Given the description of an element on the screen output the (x, y) to click on. 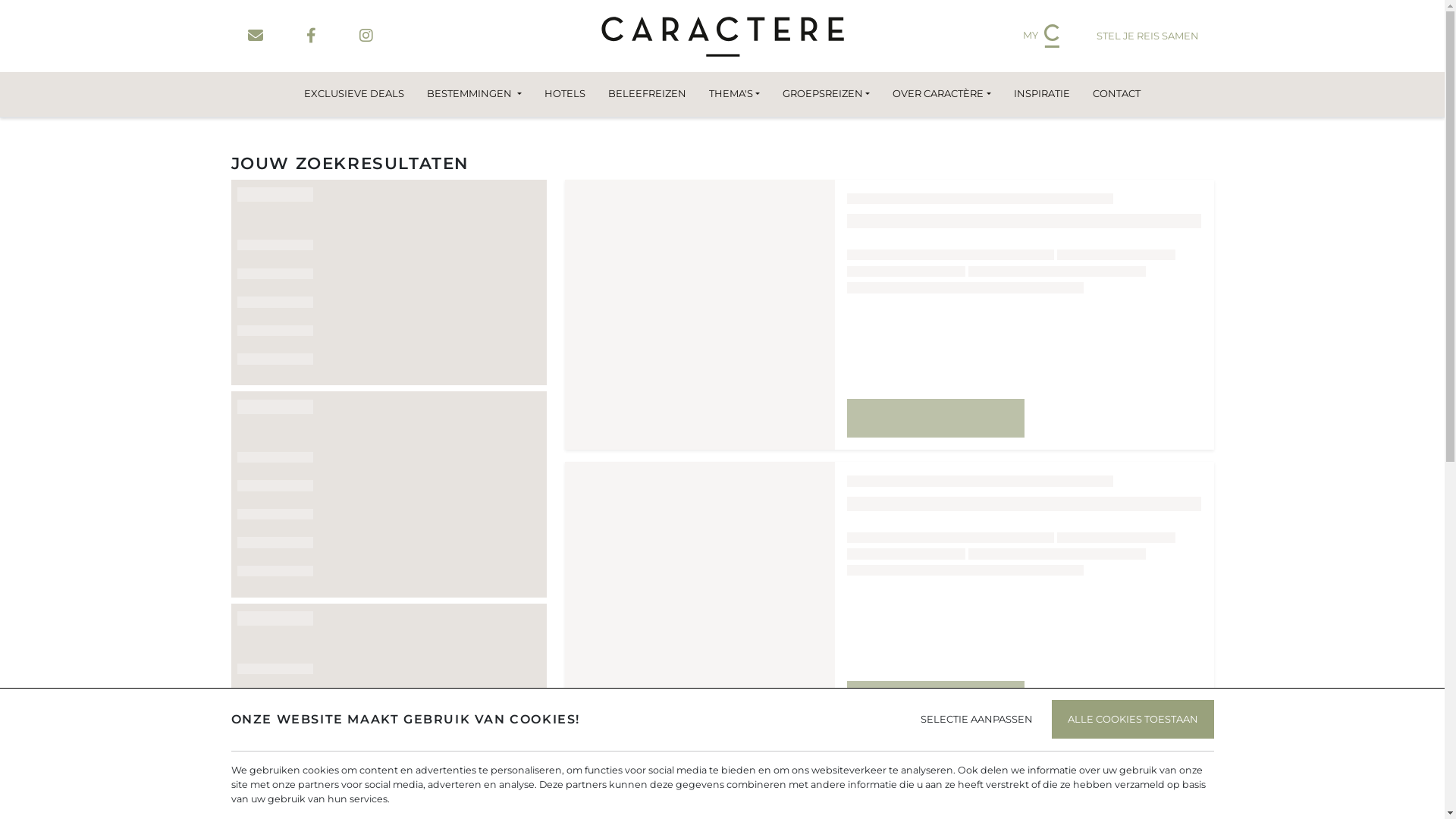
THEMA'S Element type: text (734, 93)
GROEPSREIZEN Element type: text (826, 93)
MY Element type: text (1041, 35)
BESTEMMINGEN Element type: text (473, 93)
HOTELS Element type: text (564, 93)
CONTACT Element type: text (1116, 93)
ALLE COOKIES TOESTAAN Element type: text (1132, 718)
INSPIRATIE Element type: text (1041, 93)
BELEEFREIZEN Element type: text (646, 93)
EXCLUSIEVE DEALS Element type: text (353, 93)
SELECTIE AANPASSEN Element type: text (975, 718)
STEL JE REIS SAMEN Element type: text (1147, 35)
